Given the description of an element on the screen output the (x, y) to click on. 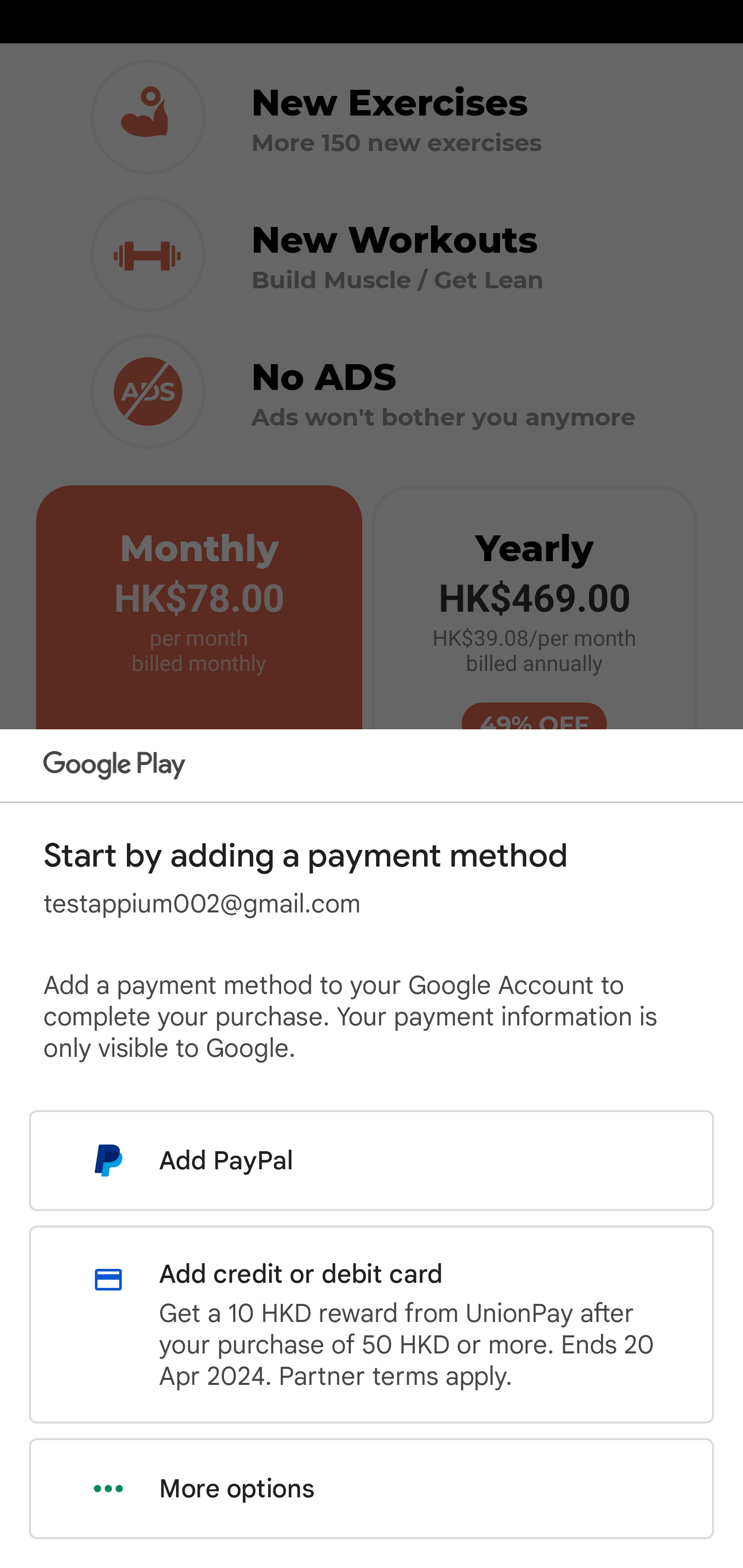
Add PayPal (371, 1160)
More options (371, 1488)
